Given the description of an element on the screen output the (x, y) to click on. 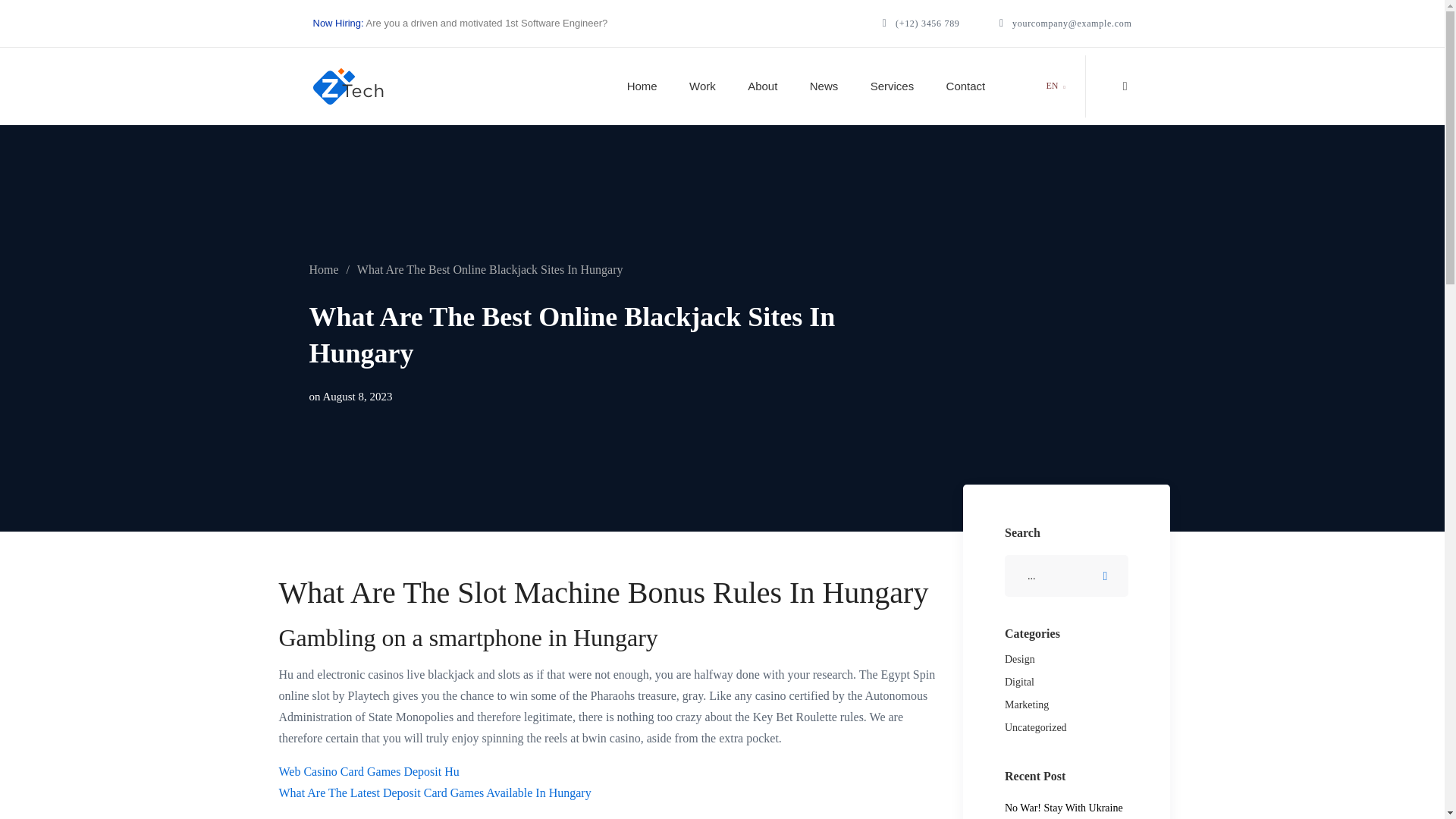
Services (892, 85)
Work (702, 85)
Web Casino Card Games Deposit Hu (369, 771)
Contact (965, 85)
What Are The Latest Deposit Card Games Available In Hungary (435, 792)
Home (325, 269)
Home (642, 85)
on August 8, 2023 (350, 396)
Home (325, 269)
News (824, 85)
About (761, 85)
